Given the description of an element on the screen output the (x, y) to click on. 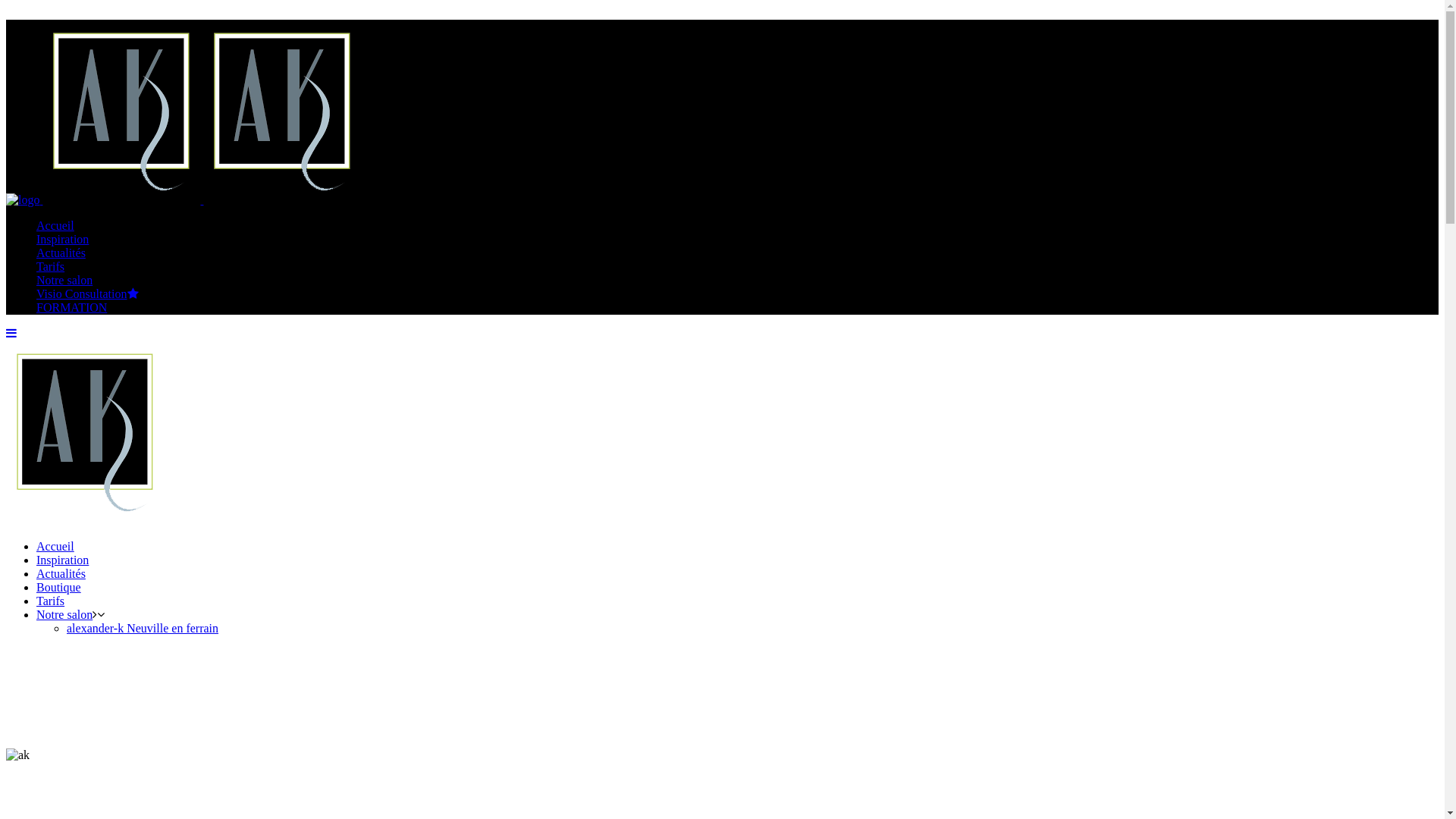
alexander-k Neuville en ferrain Element type: text (142, 627)
Notre salon Element type: text (64, 279)
FORMATION Element type: text (71, 307)
ak Element type: hover (17, 755)
Tarifs Element type: text (50, 266)
Boutique Element type: text (58, 586)
Accueil Element type: text (55, 545)
Inspiration Element type: text (62, 559)
Tarifs Element type: text (50, 600)
Inspiration Element type: text (62, 238)
Accueil Element type: text (55, 225)
Visio Consultation Element type: text (87, 293)
Notre salon Element type: text (64, 614)
